Given the description of an element on the screen output the (x, y) to click on. 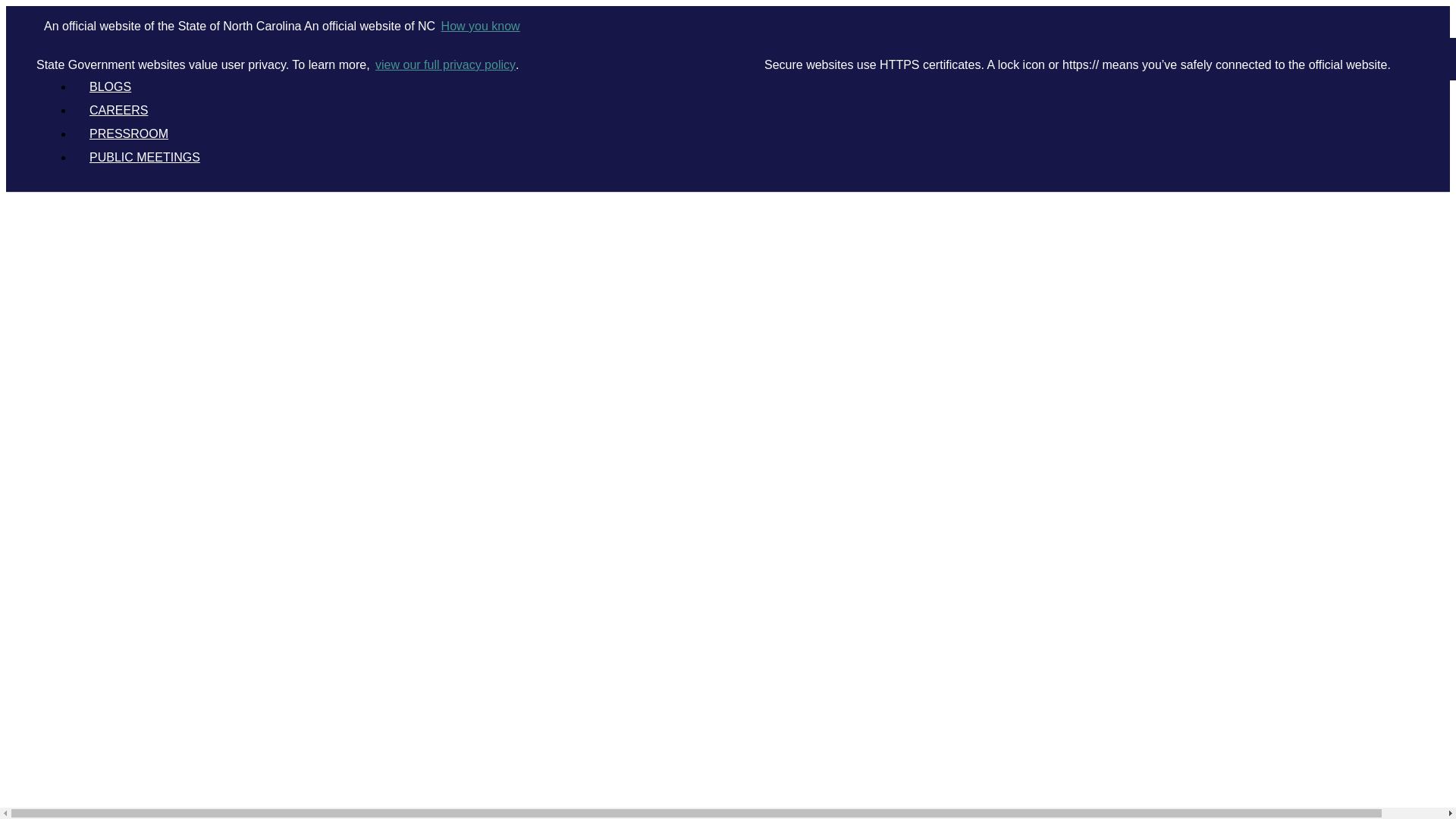
BLOGS (110, 86)
PUBLIC MEETINGS (144, 156)
How you know (479, 26)
view our full privacy policy (443, 65)
CAREERS (118, 110)
Skip to main content (728, 7)
PRESSROOM (128, 133)
NC.GOV (105, 62)
